Given the description of an element on the screen output the (x, y) to click on. 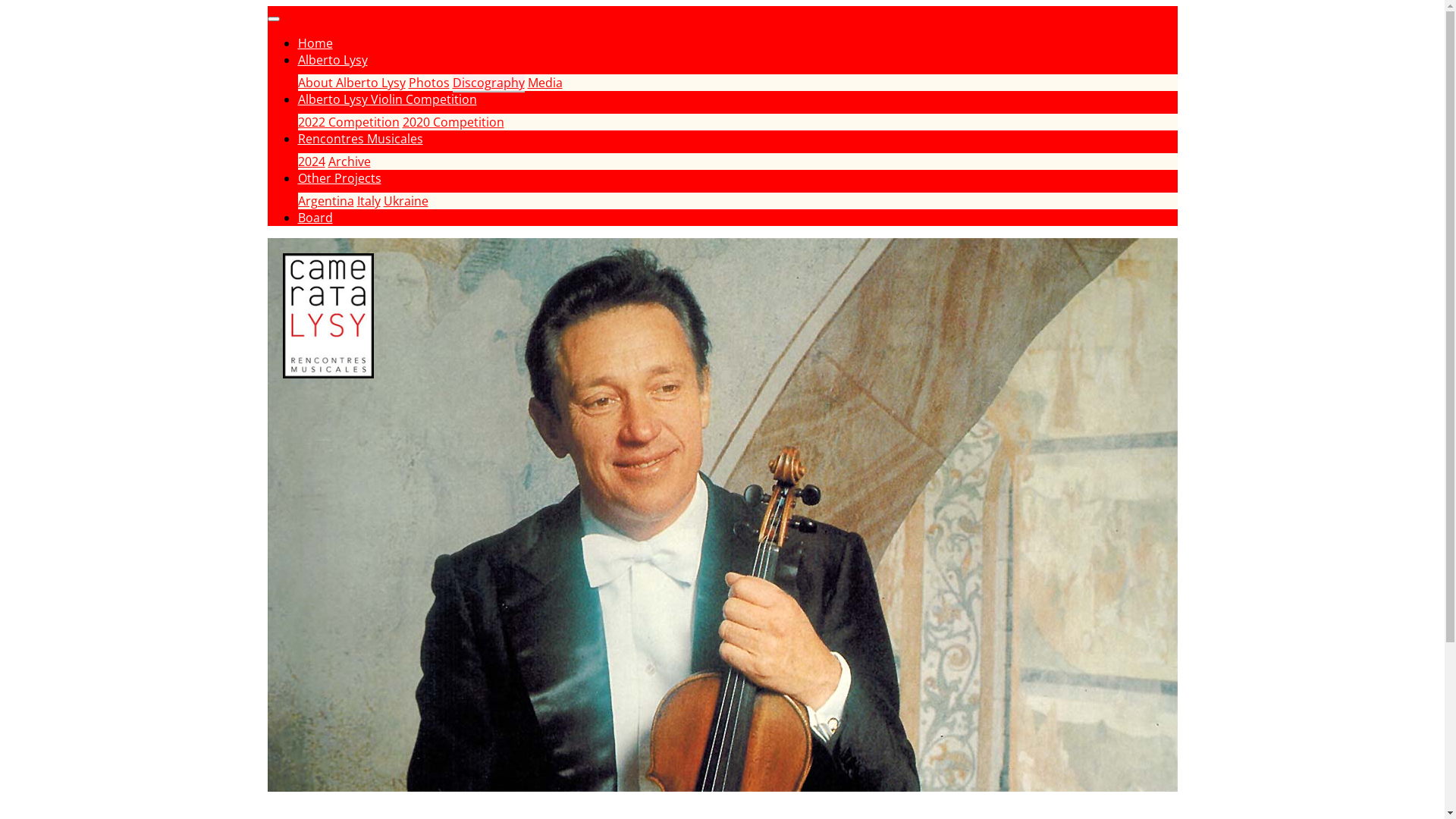
Home Element type: text (314, 43)
Board Element type: text (314, 218)
Other Projects Element type: text (338, 178)
2020 Competition Element type: text (452, 122)
Italy Element type: text (367, 201)
Alberto Lysy Element type: text (332, 60)
Media Element type: text (544, 83)
About Alberto Lysy Element type: text (350, 83)
2022 Competition Element type: text (347, 122)
Archive Element type: text (348, 162)
2024 Element type: text (310, 162)
Ukraine Element type: text (405, 201)
Photos Element type: text (427, 83)
Argentina Element type: text (325, 201)
Alberto Lysy Violin Competition Element type: text (386, 100)
Rencontres Musicales Element type: text (359, 139)
Discography Element type: text (487, 83)
